Given the description of an element on the screen output the (x, y) to click on. 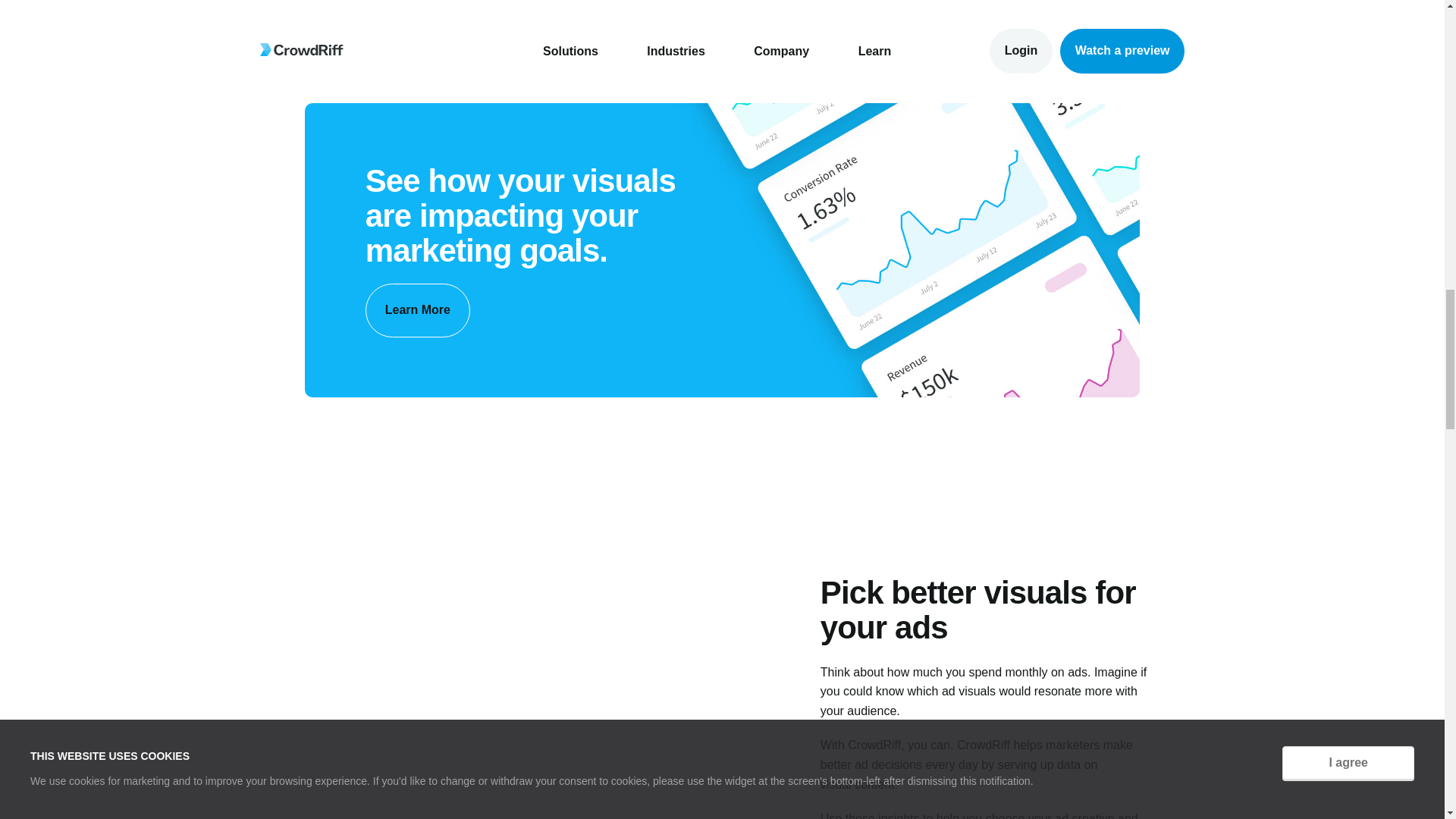
Learn More (417, 310)
